Given the description of an element on the screen output the (x, y) to click on. 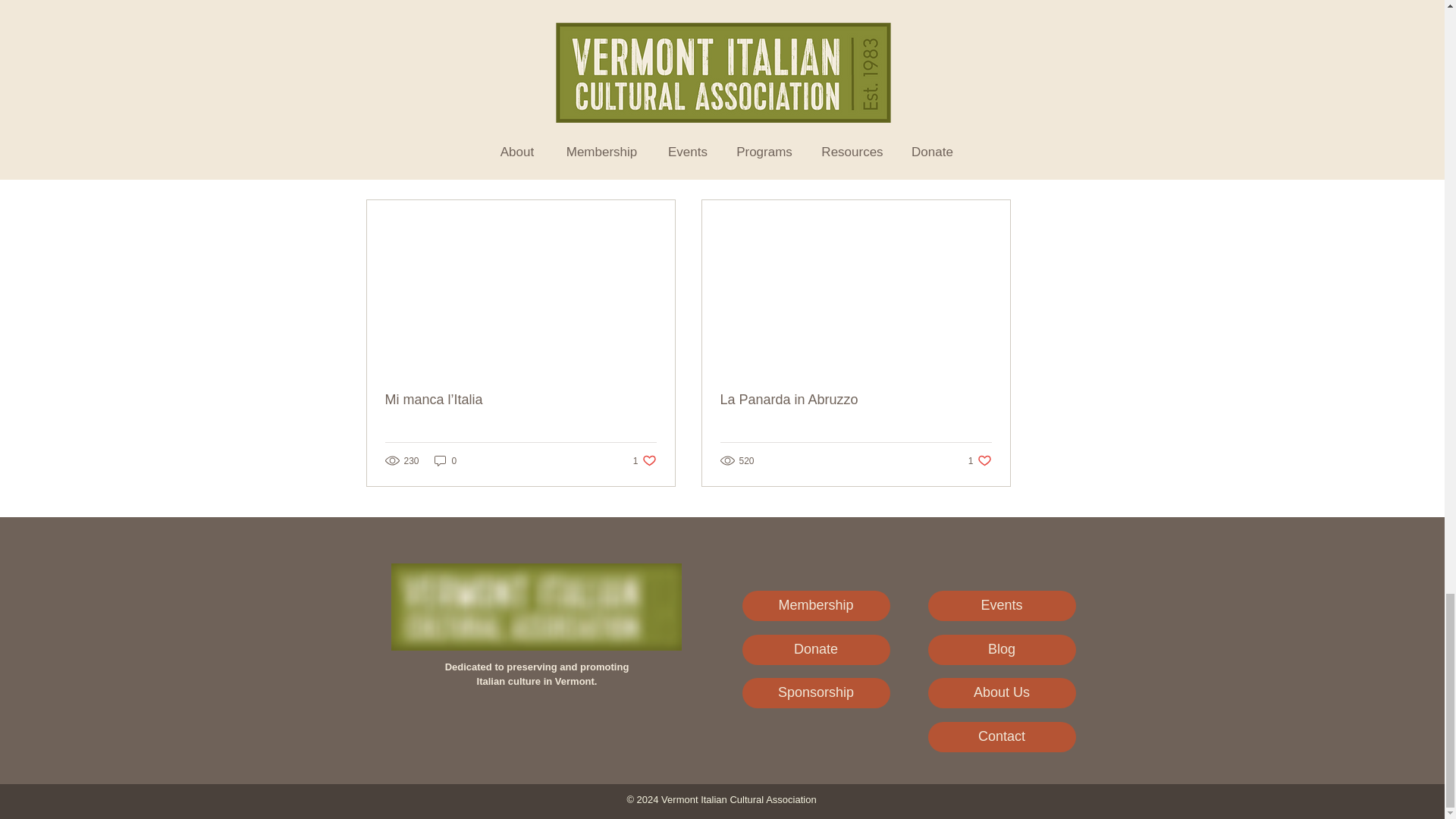
La Panarda in Abruzzo (855, 399)
Storytelling (979, 460)
See All (937, 45)
0 (993, 173)
